Given the description of an element on the screen output the (x, y) to click on. 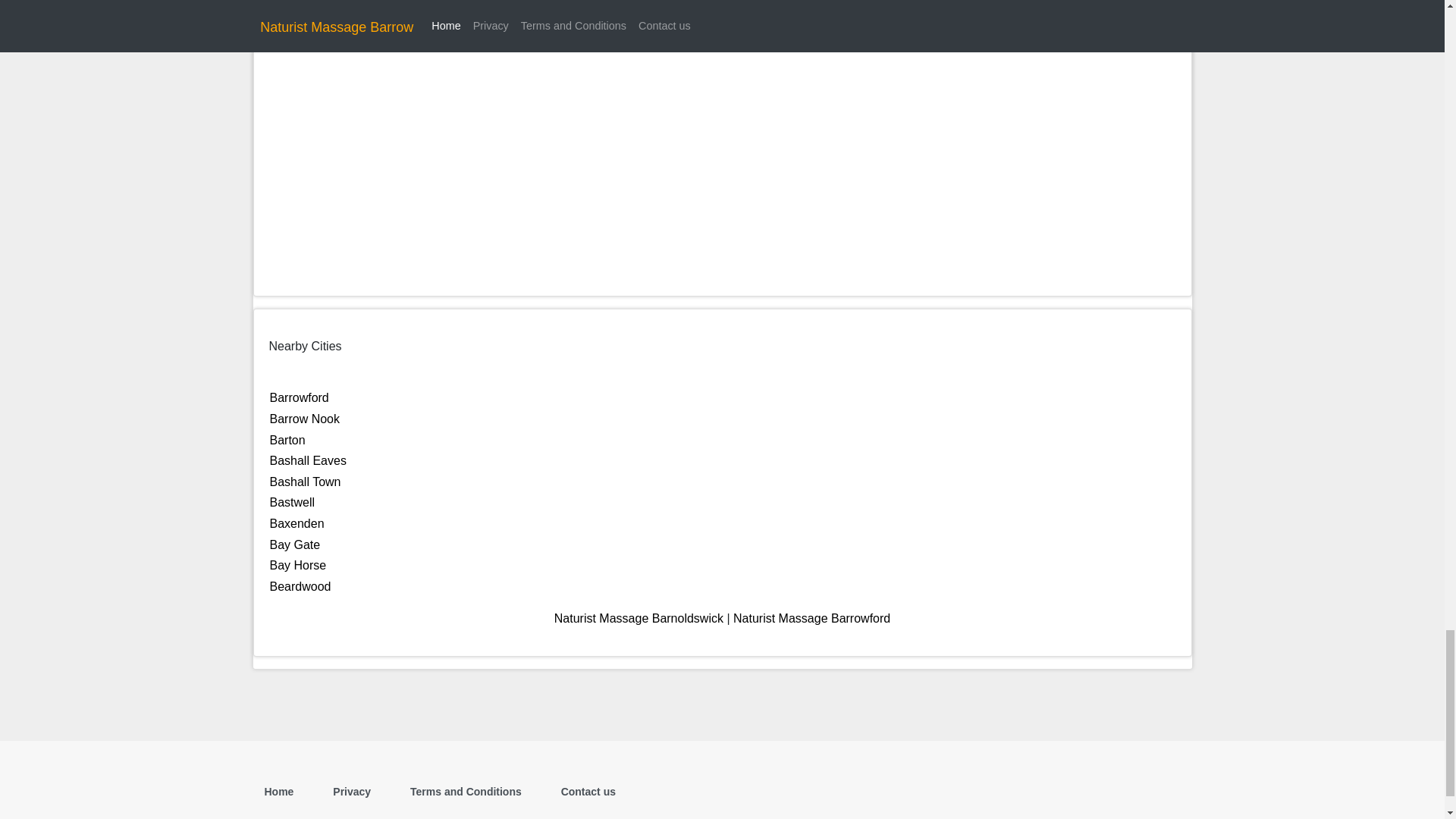
Bay Horse (297, 564)
Bastwell (292, 502)
Barrow Nook (304, 418)
Naturist Massage Barnoldswick (638, 617)
Bashall Eaves (307, 460)
Barton (287, 440)
Barrowford (299, 397)
Bay Gate (294, 543)
Beardwood (300, 585)
Baxenden (296, 522)
